Given the description of an element on the screen output the (x, y) to click on. 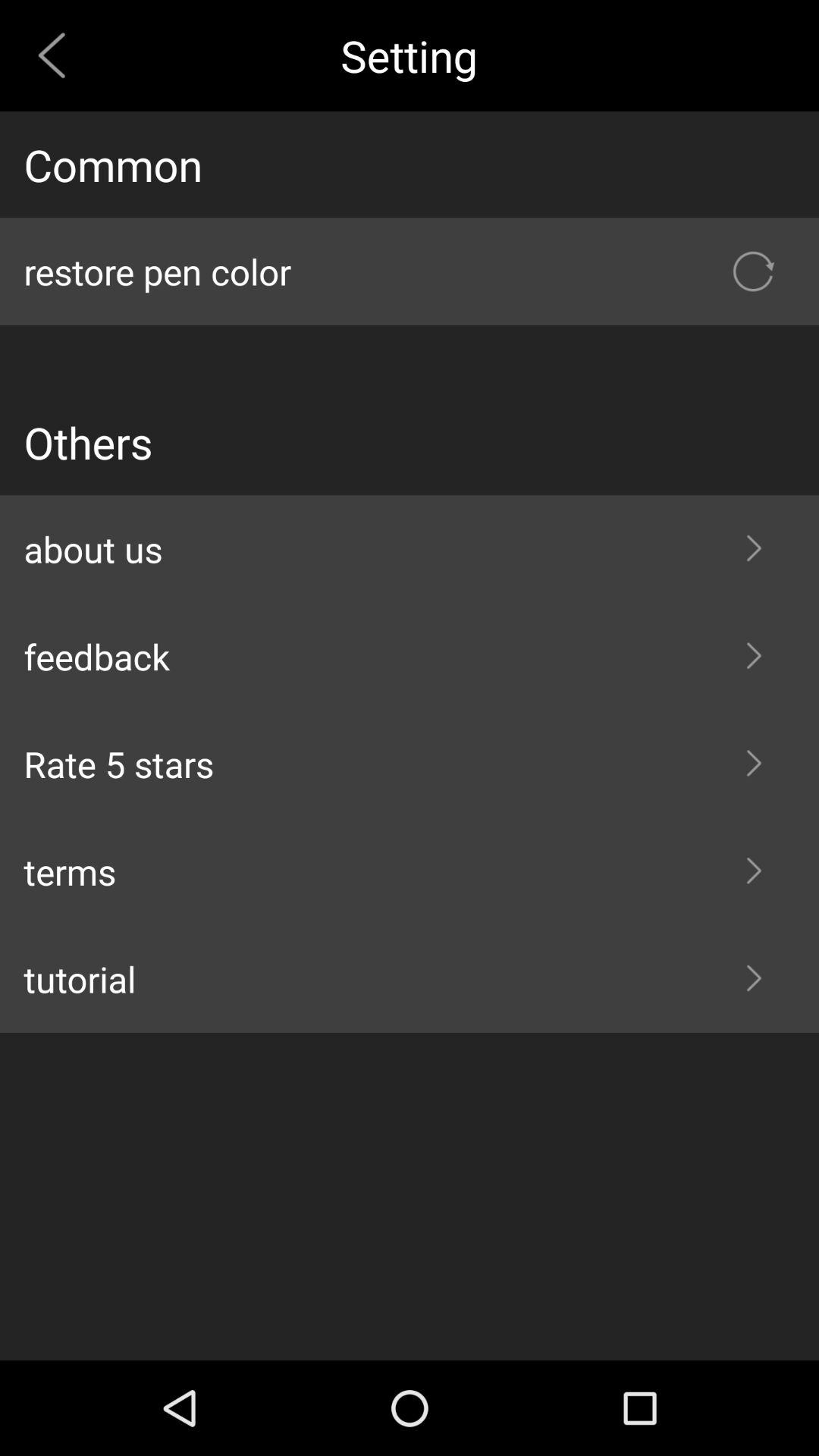
turn off the item above the rate 5 stars (409, 656)
